Given the description of an element on the screen output the (x, y) to click on. 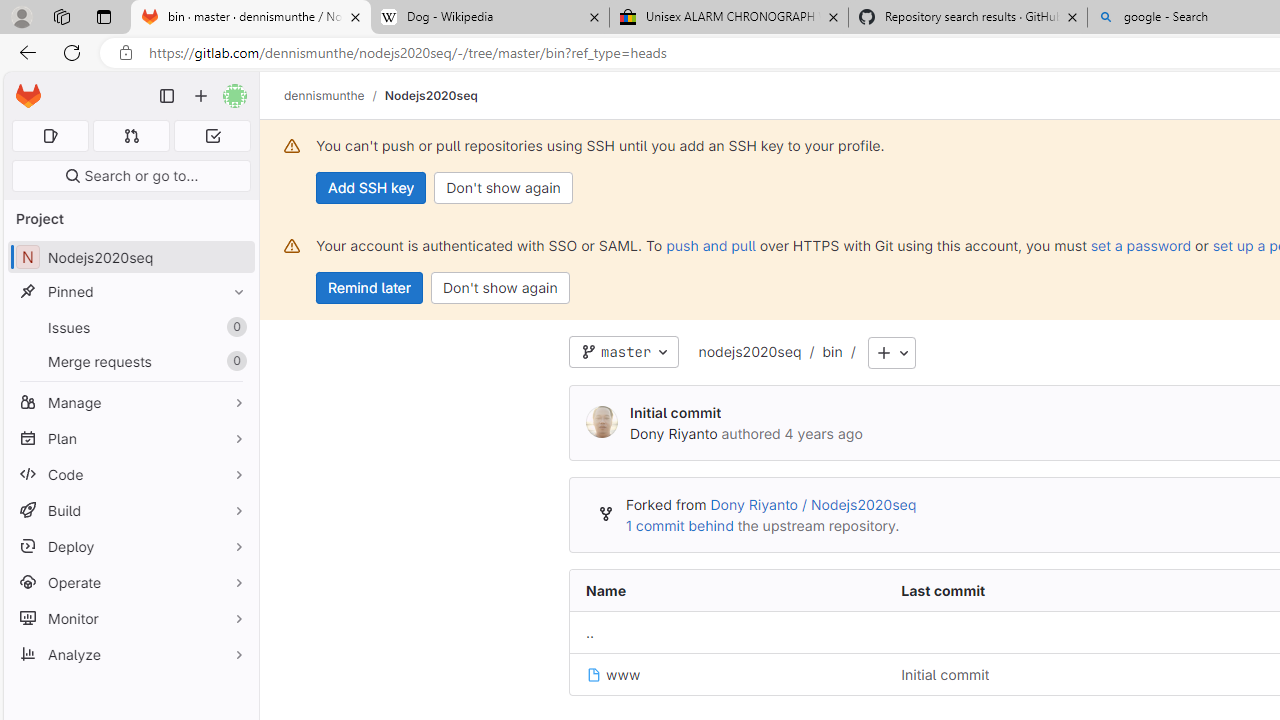
/bin (822, 353)
Operate (130, 582)
bin (832, 351)
Operate (130, 582)
Nodejs2020seq (430, 95)
Issues 0 (130, 327)
Remind later (369, 287)
Manage (130, 402)
Manage (130, 402)
Add SSH key (371, 187)
Pinned (130, 291)
Merge requests0 (130, 361)
Plan (130, 438)
